Given the description of an element on the screen output the (x, y) to click on. 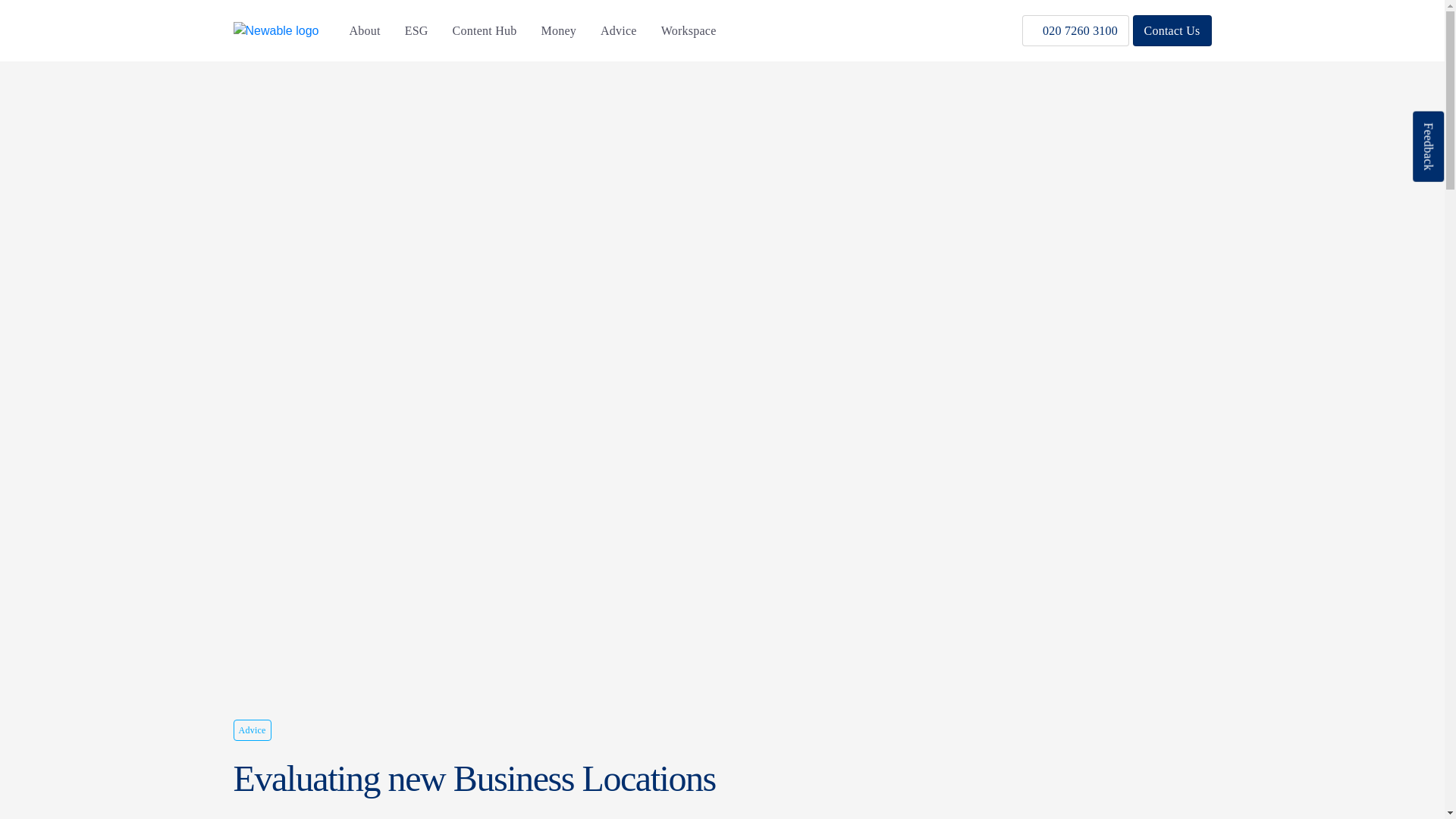
Call 020 7260 3100 (1075, 30)
Contact Us (1171, 30)
Advice (618, 30)
ESG (416, 30)
020 7260 3100 (1075, 30)
About (364, 30)
Content Hub (484, 30)
Workspace (688, 30)
Money (558, 30)
